Given the description of an element on the screen output the (x, y) to click on. 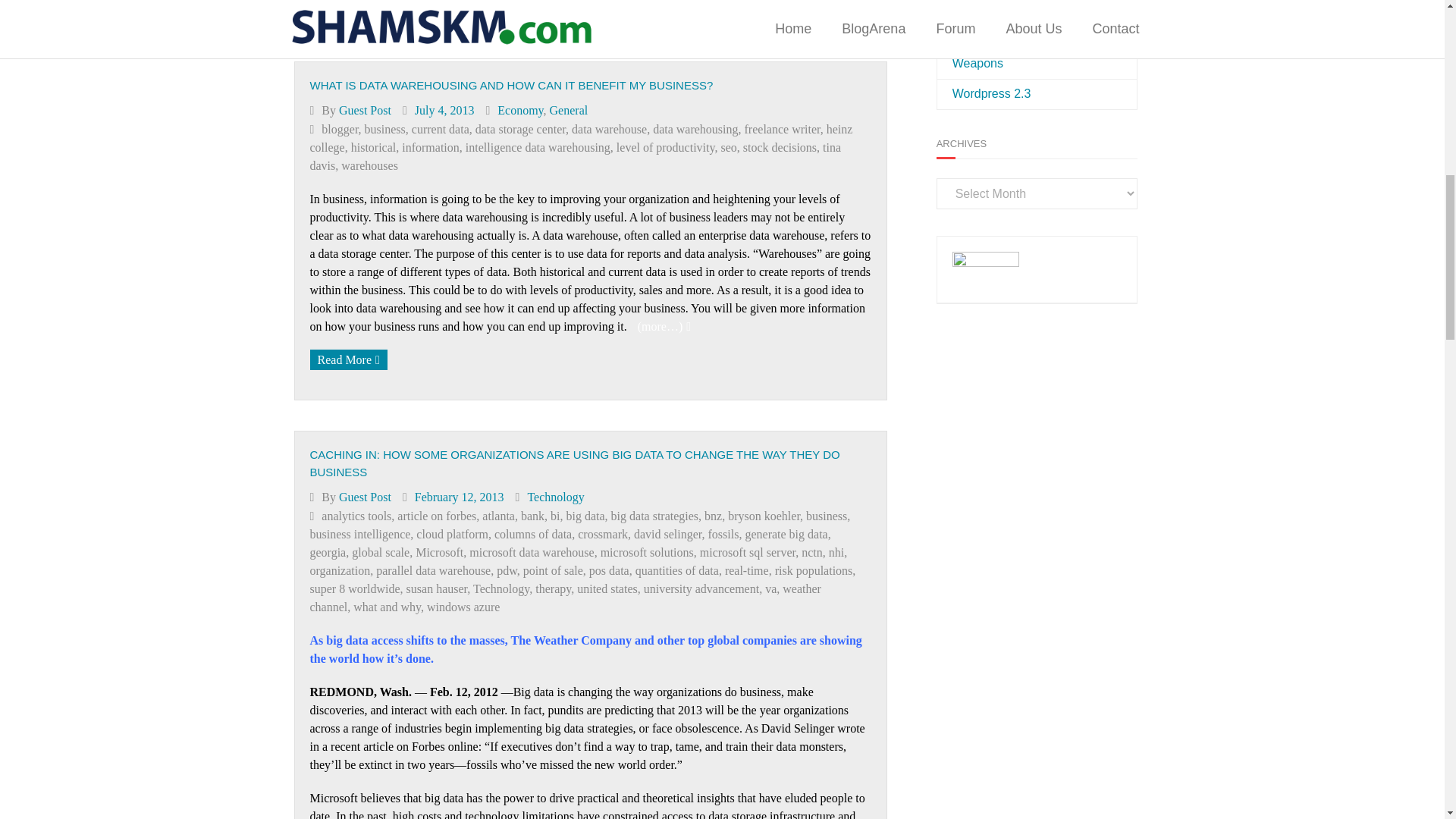
What is data warehousing and how can it benefit my business? (444, 110)
View all posts by Guest Post (365, 496)
View all posts by Guest Post (365, 110)
